Given the description of an element on the screen output the (x, y) to click on. 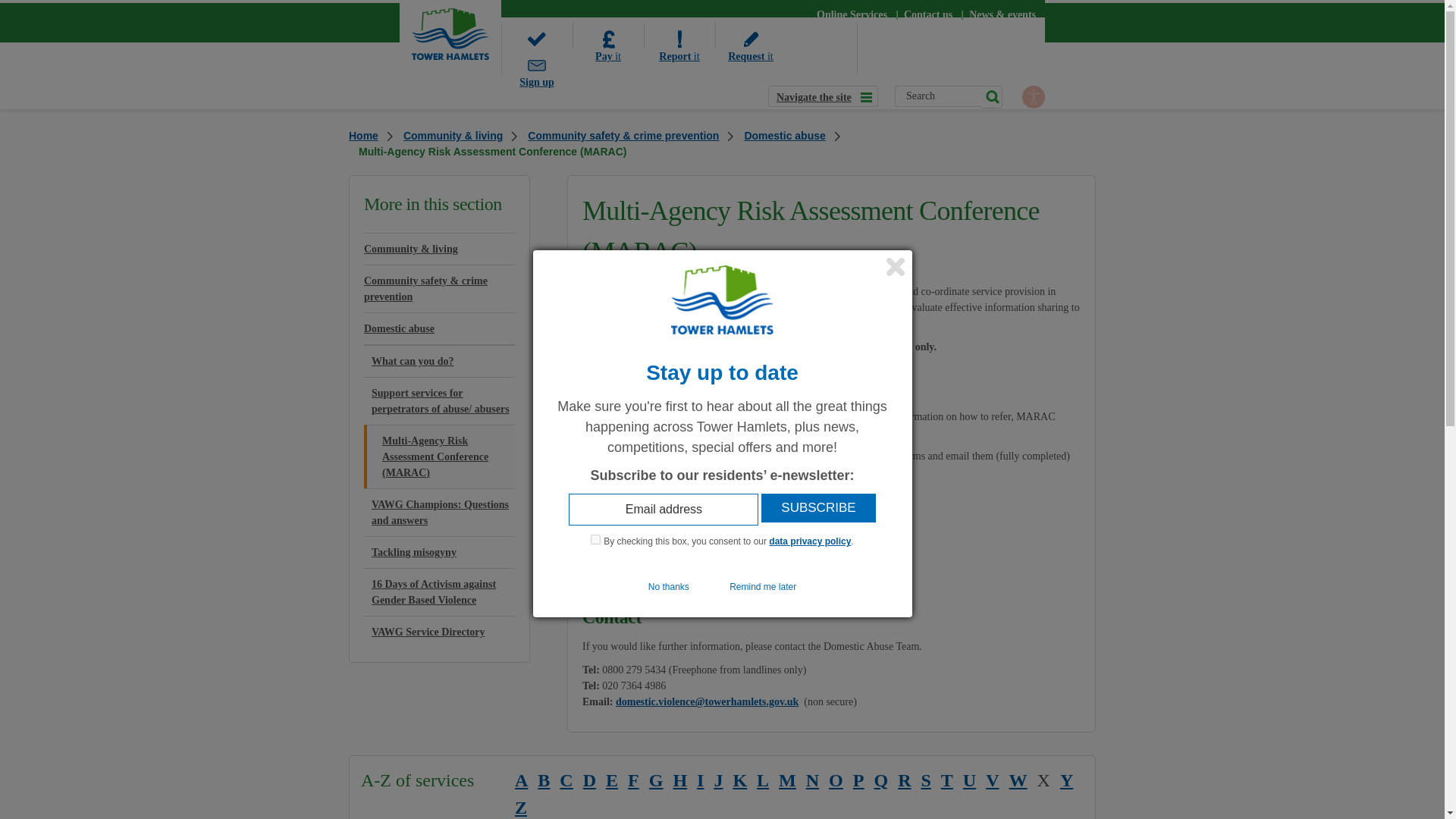
on (595, 539)
Pay it (607, 35)
Request it (750, 35)
Online Services (851, 14)
Search (938, 96)
Domestic abuse (786, 135)
Navigate the site (822, 96)
Domestic abuse (439, 327)
Home (371, 135)
Sign up to our newsletter (536, 61)
Sign up (536, 61)
Report it (678, 35)
Search (938, 96)
VAWG Champions: Questions and answers (439, 512)
Contact us (928, 14)
